Given the description of an element on the screen output the (x, y) to click on. 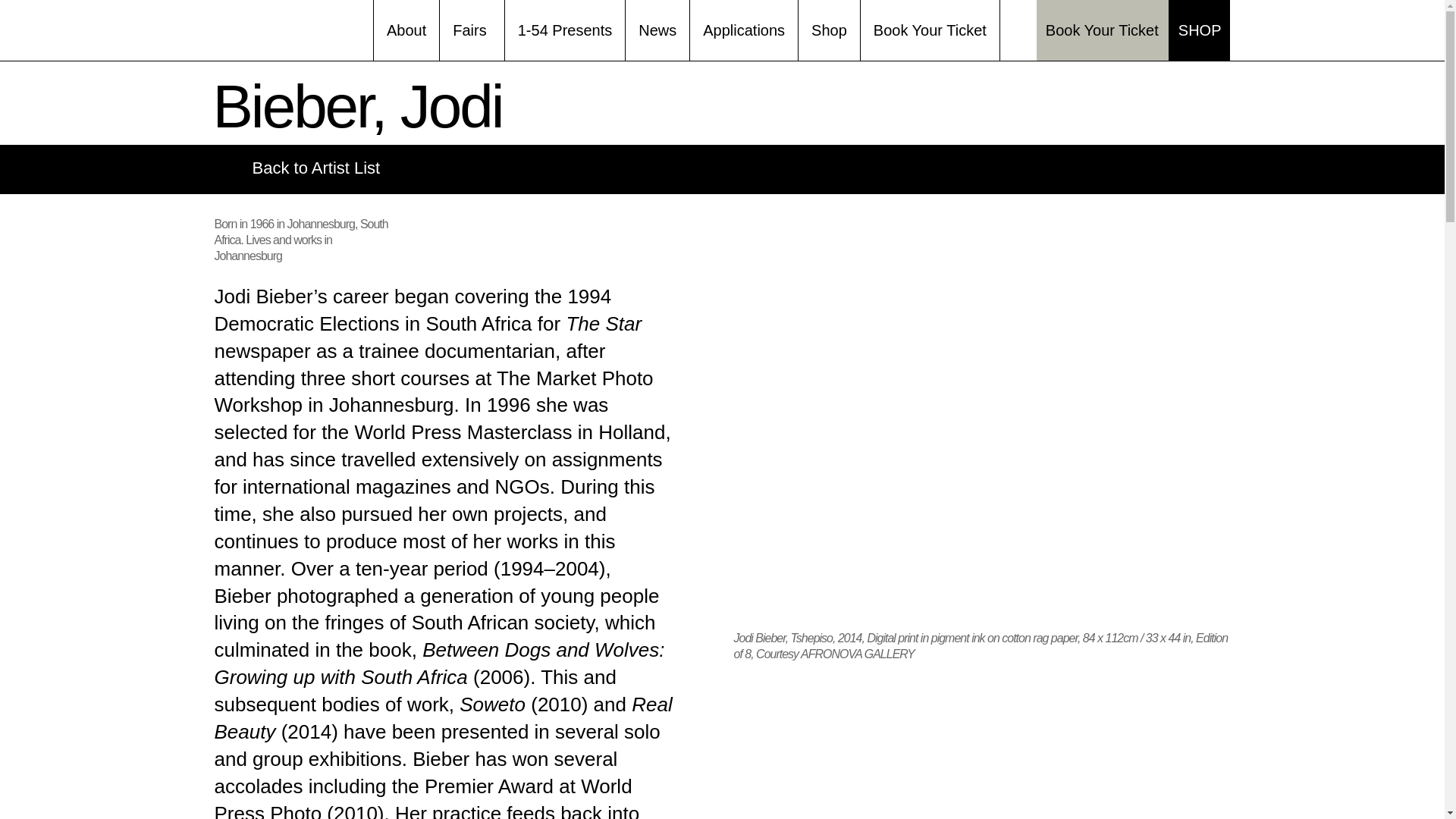
Back to Artist List (297, 167)
Fairs (471, 30)
Applications (743, 30)
Shop (828, 30)
News (657, 30)
SHOP (1199, 30)
Book Your Ticket (1102, 30)
About (406, 30)
1-54 Presents (565, 30)
Book Your Ticket (929, 30)
